Given the description of an element on the screen output the (x, y) to click on. 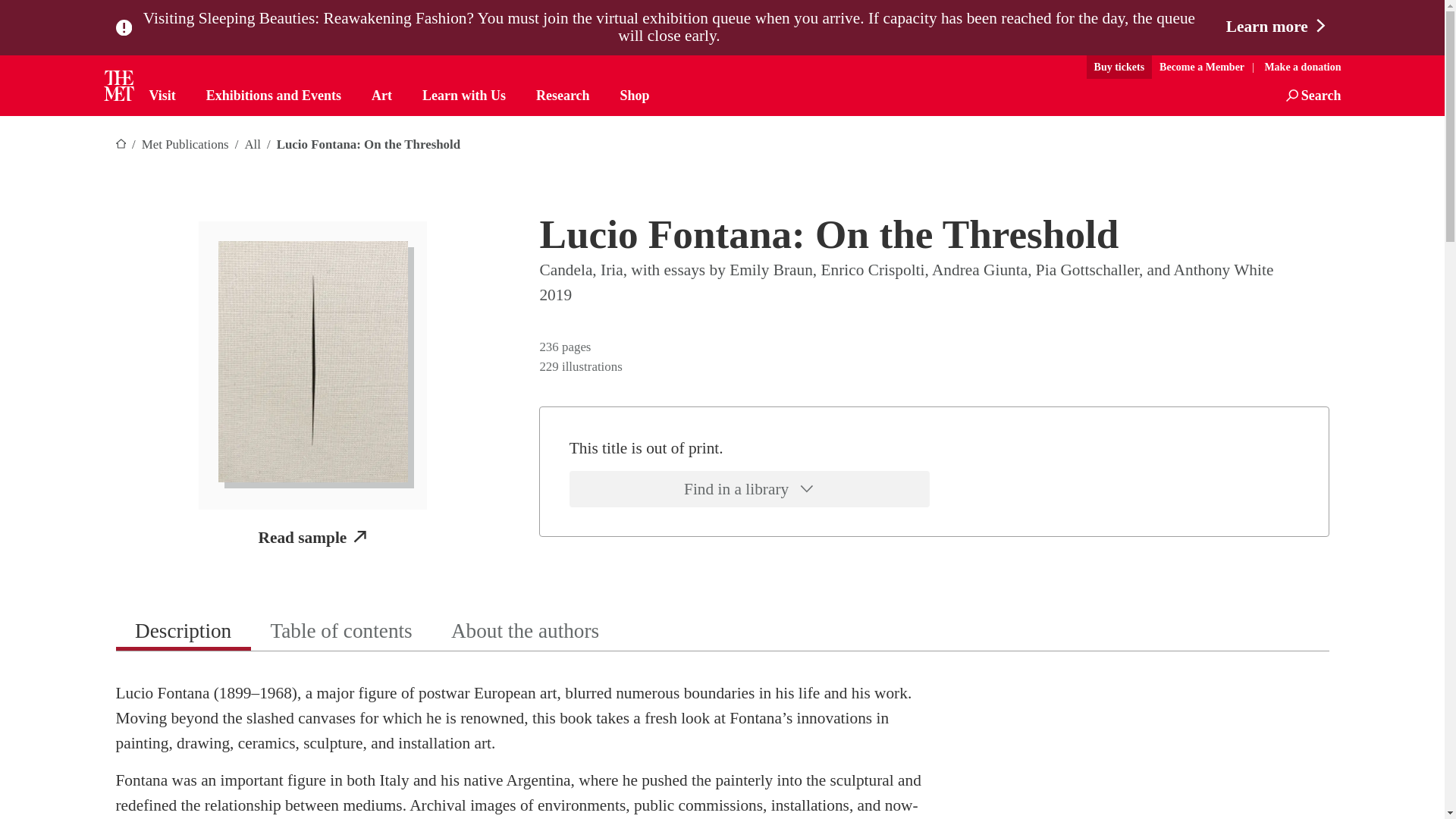
Shop (634, 96)
Search (1312, 96)
Exhibitions and Events (273, 96)
Met Publications (184, 144)
Search Button (1312, 96)
Member (1201, 67)
Visit (161, 96)
Read sample (312, 537)
Research (562, 96)
Make a donation (1298, 66)
